Given the description of an element on the screen output the (x, y) to click on. 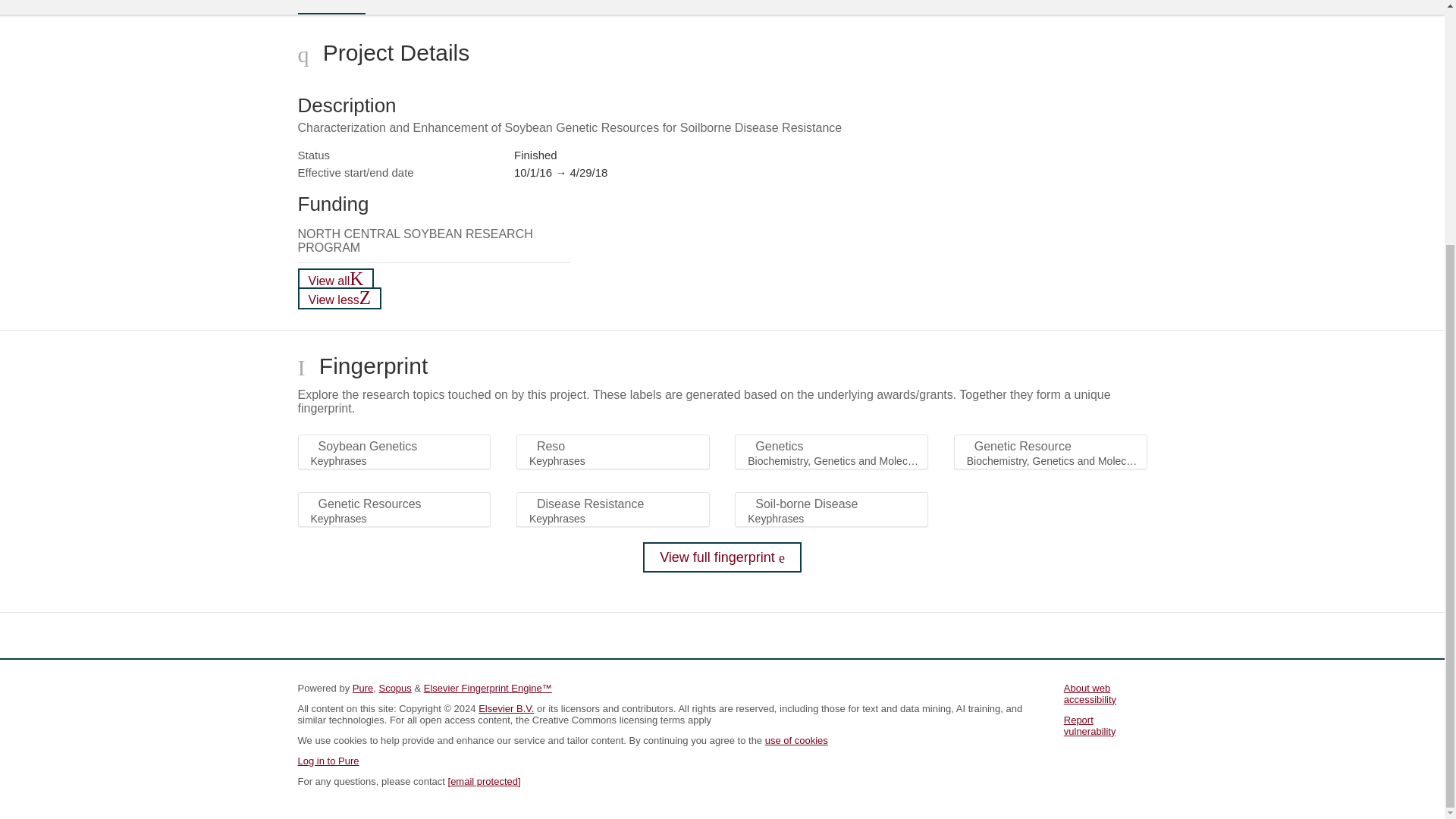
Fingerprint (419, 6)
Pure (362, 687)
Elsevier B.V. (506, 708)
View full fingerprint (722, 557)
Scopus (394, 687)
use of cookies (796, 740)
Report vulnerability (1090, 725)
About web accessibility (1090, 693)
View all (335, 279)
View less (339, 298)
